Given the description of an element on the screen output the (x, y) to click on. 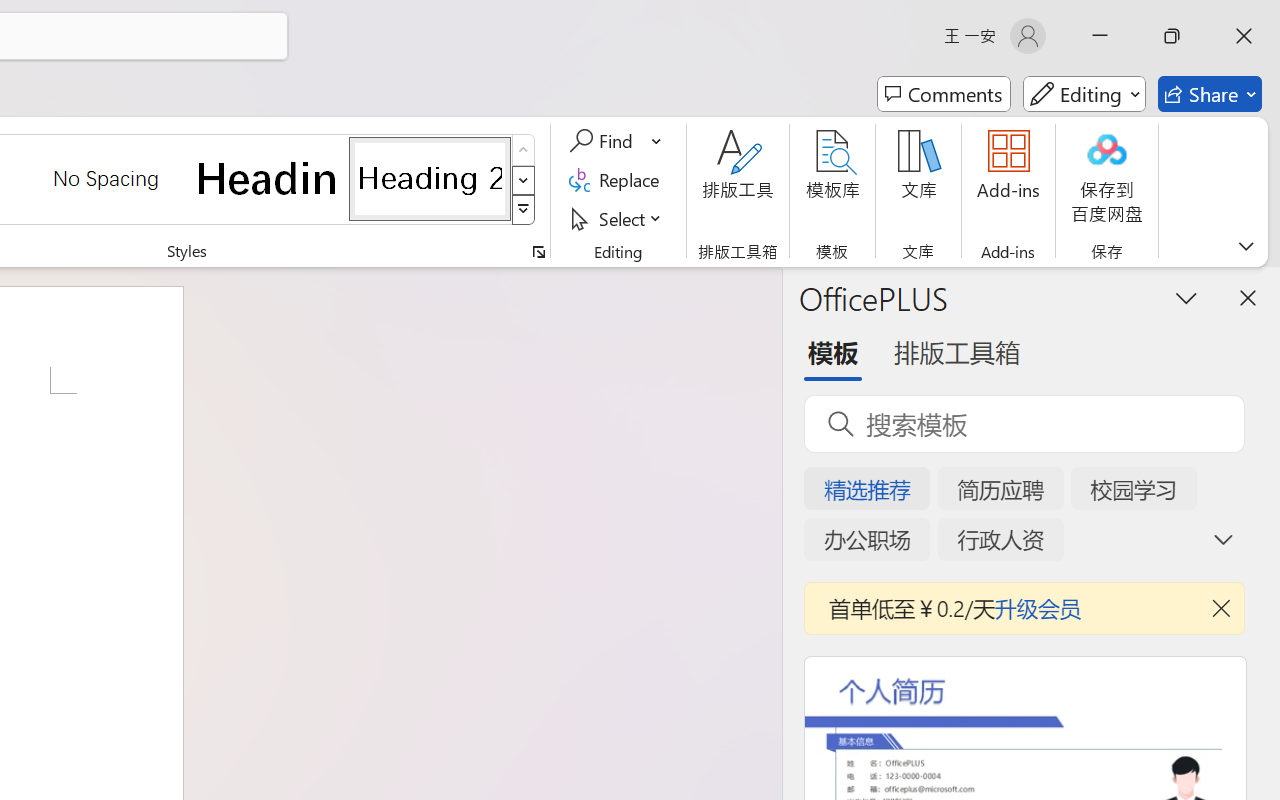
Minimize (1099, 36)
Heading 2 (429, 178)
More Options (657, 141)
Find (604, 141)
Replace... (617, 179)
Select (618, 218)
Styles... (538, 252)
Ribbon Display Options (1246, 245)
